Given the description of an element on the screen output the (x, y) to click on. 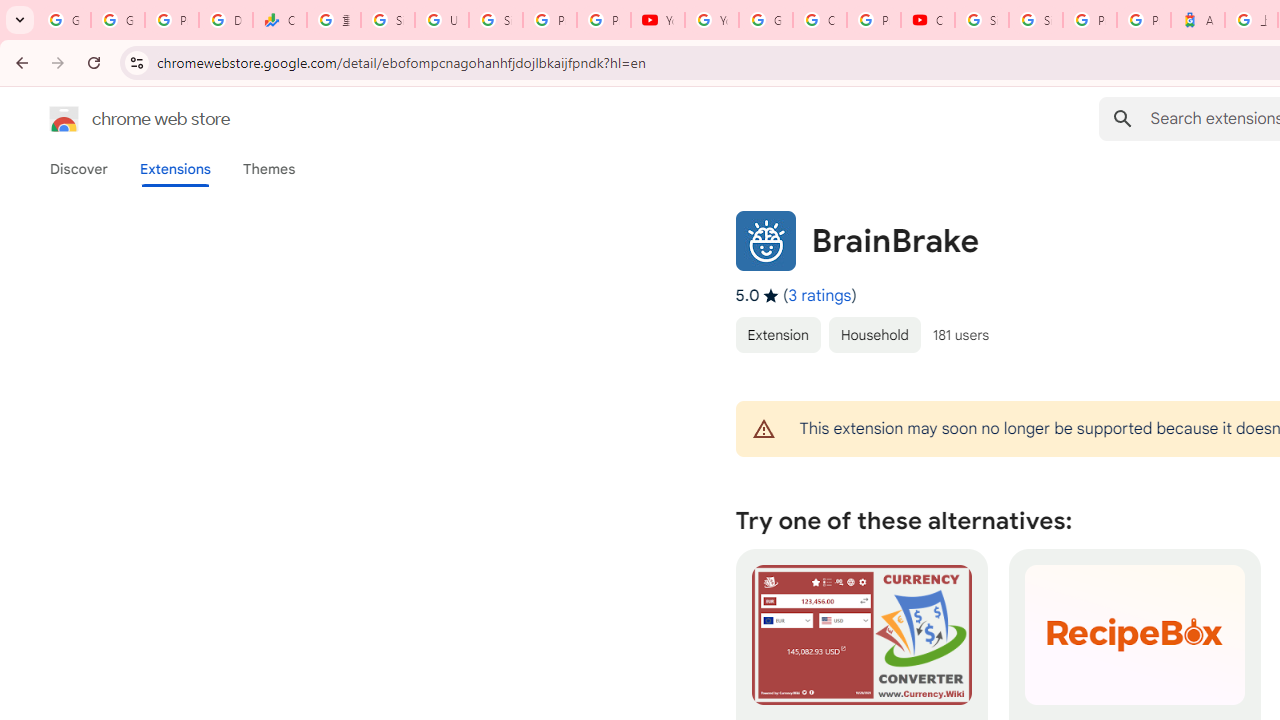
Currencies - Google Finance (280, 20)
Themes (269, 169)
Household (874, 334)
Extensions (174, 169)
3 ratings (820, 295)
